Given the description of an element on the screen output the (x, y) to click on. 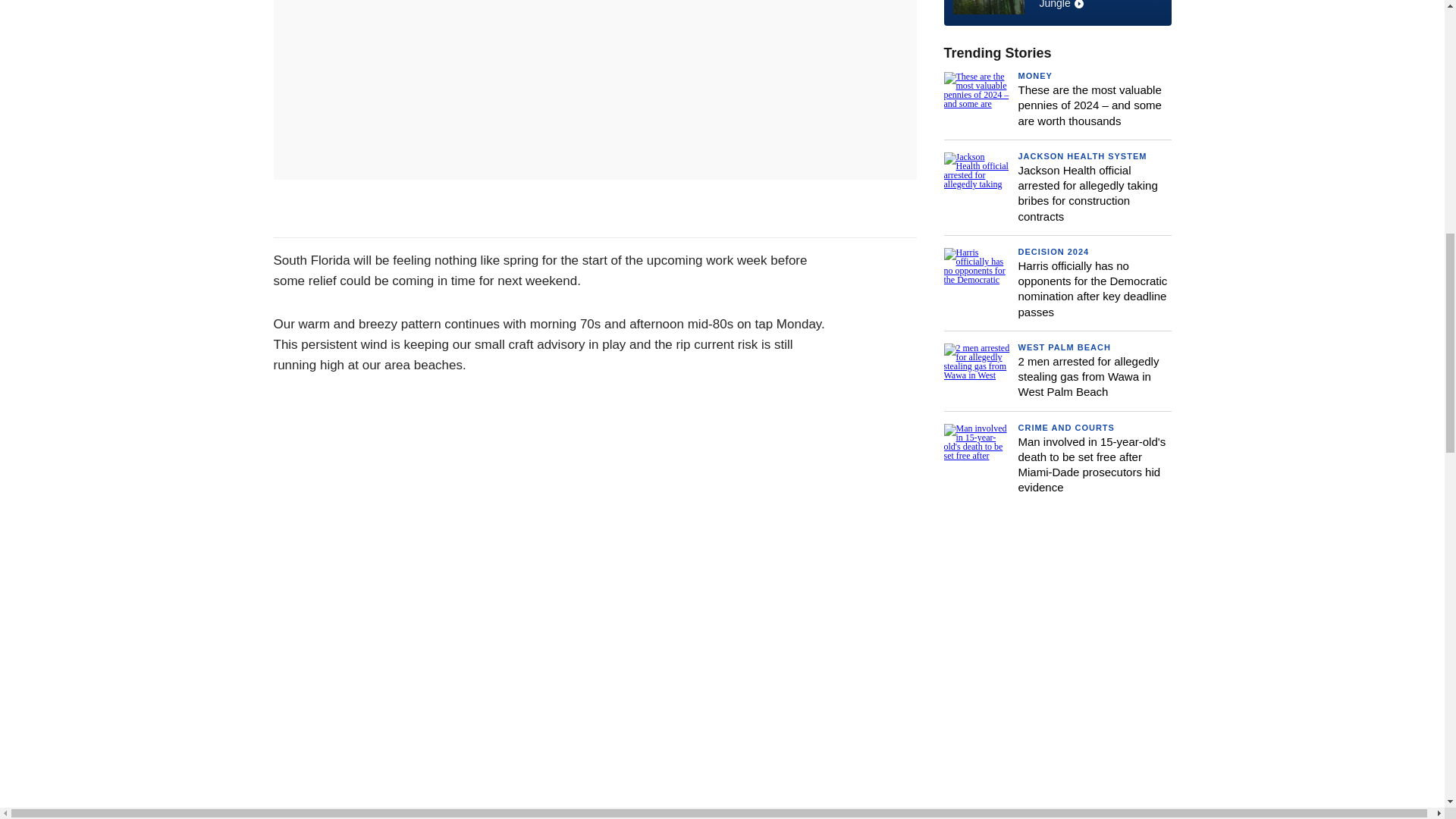
MONEY (1056, 8)
